Given the description of an element on the screen output the (x, y) to click on. 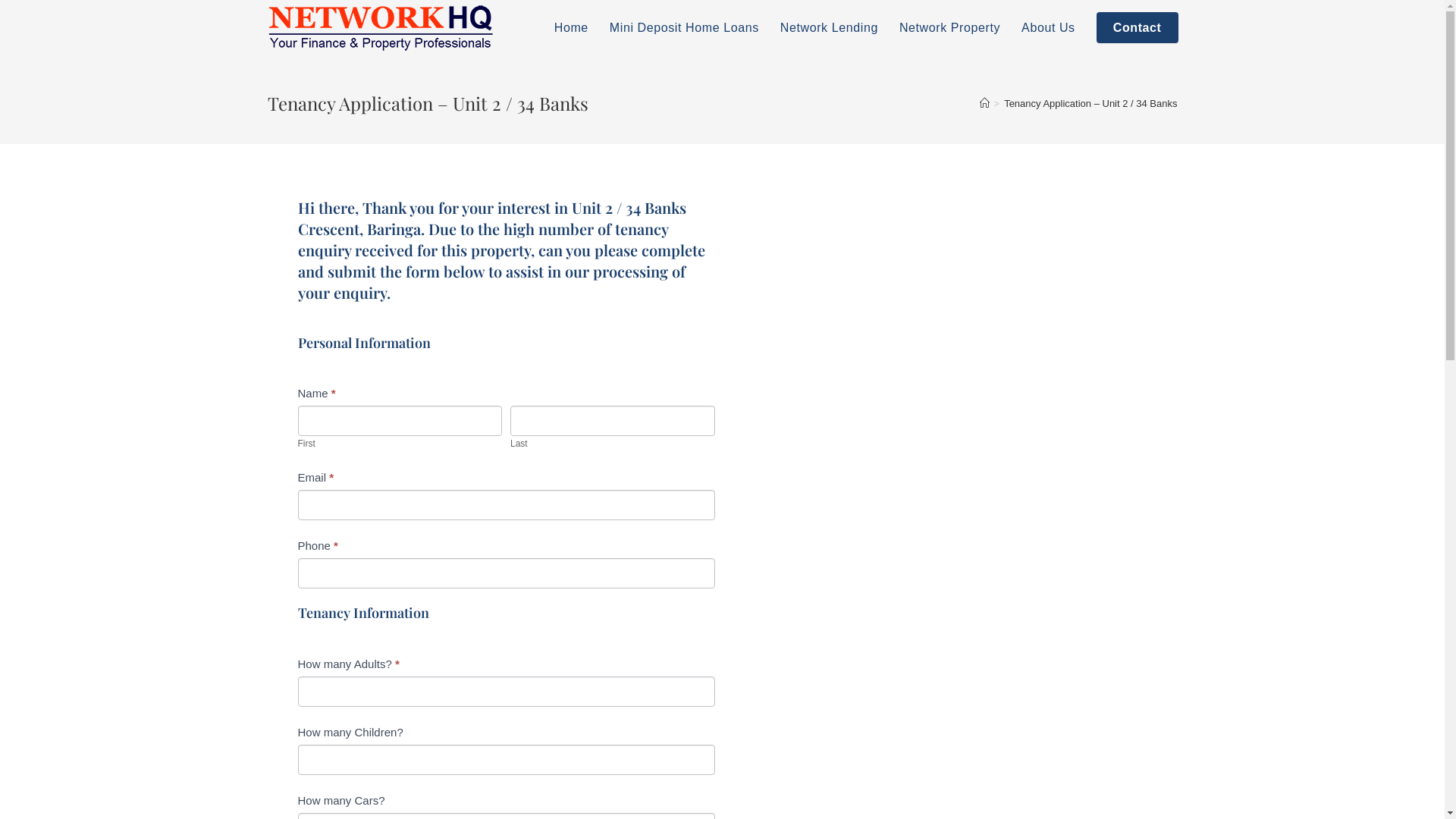
Mini Deposit Home Loans Element type: text (684, 28)
Home Element type: text (571, 28)
Network Property Element type: text (949, 28)
Contact Element type: text (1137, 28)
Network Lending Element type: text (828, 28)
About Us Element type: text (1047, 28)
